Given the description of an element on the screen output the (x, y) to click on. 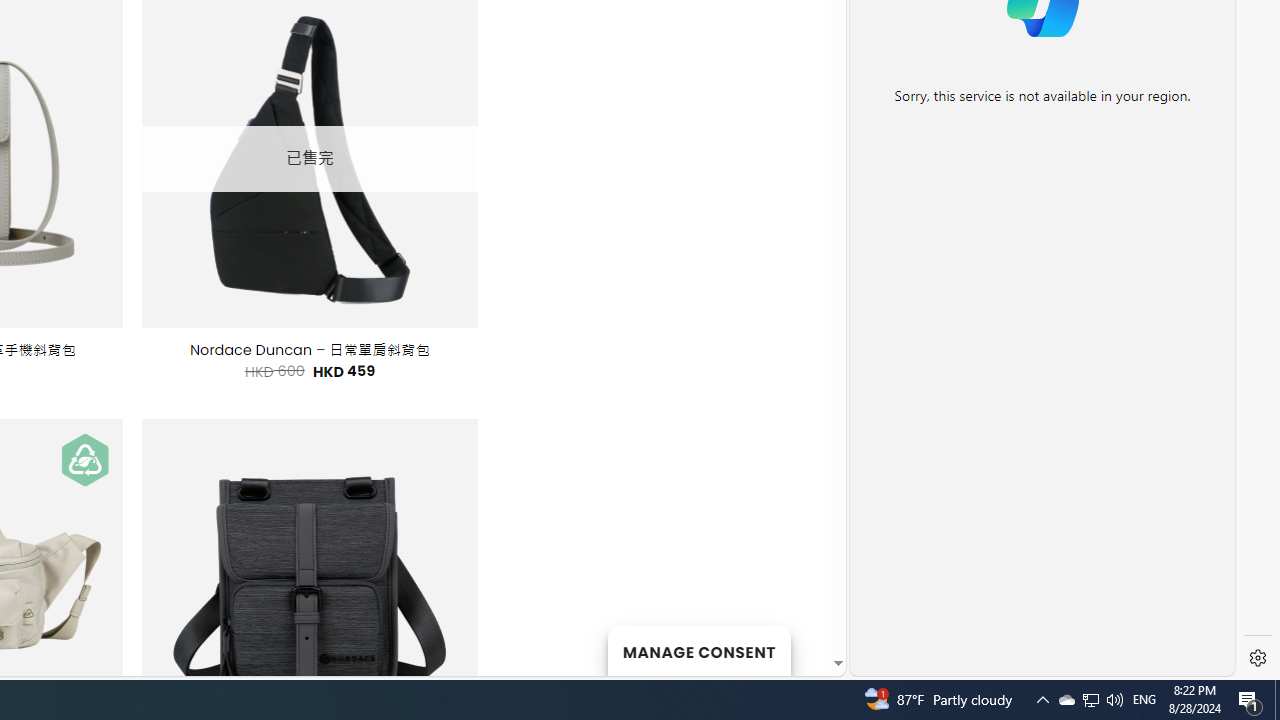
MANAGE CONSENT (698, 650)
Settings (1258, 658)
